Given the description of an element on the screen output the (x, y) to click on. 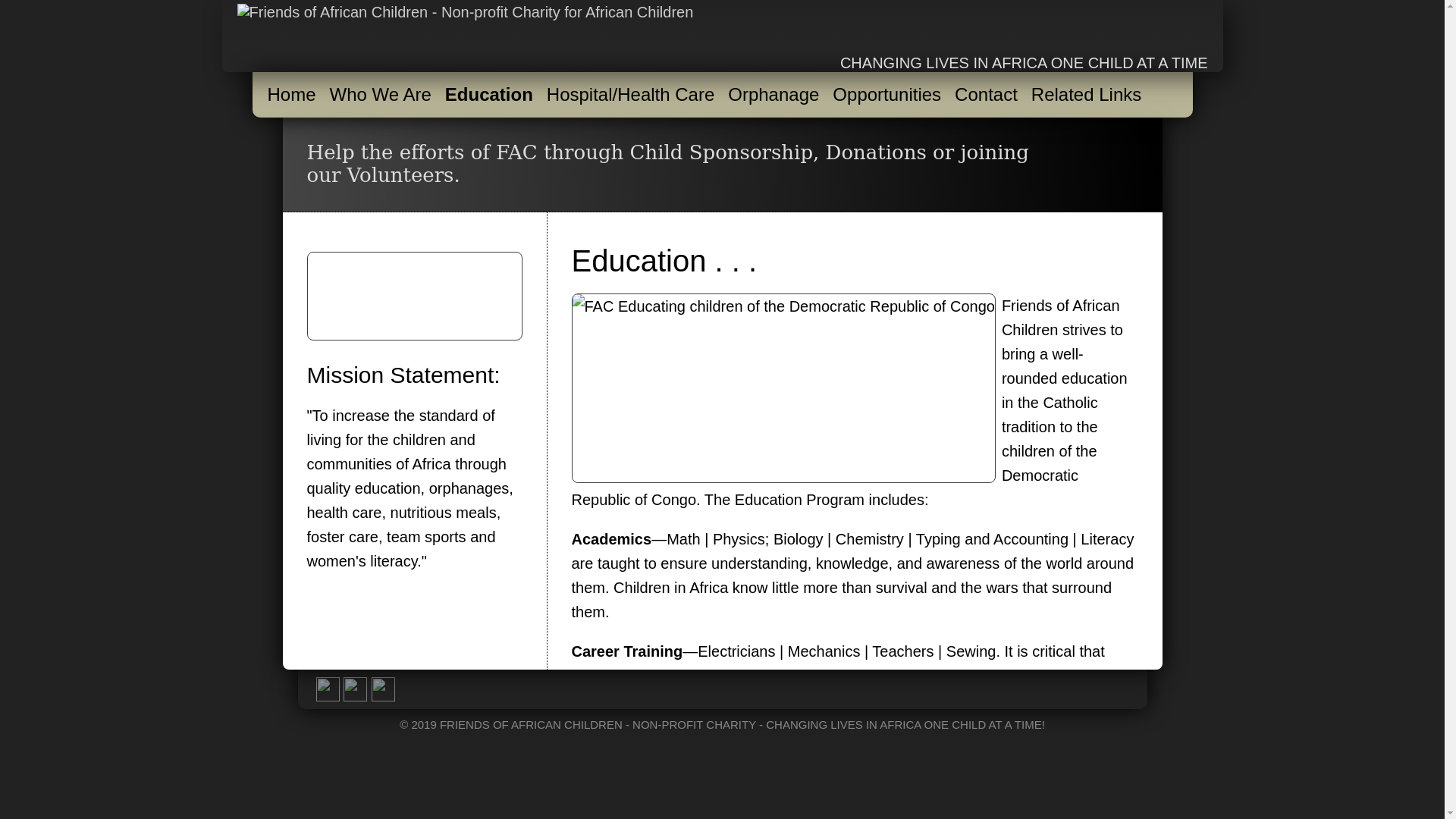
Contact (990, 94)
Education (493, 94)
Related Links (1090, 94)
Who We Are (385, 94)
Home (295, 94)
Orphanage (778, 94)
Opportunities (891, 94)
